Given the description of an element on the screen output the (x, y) to click on. 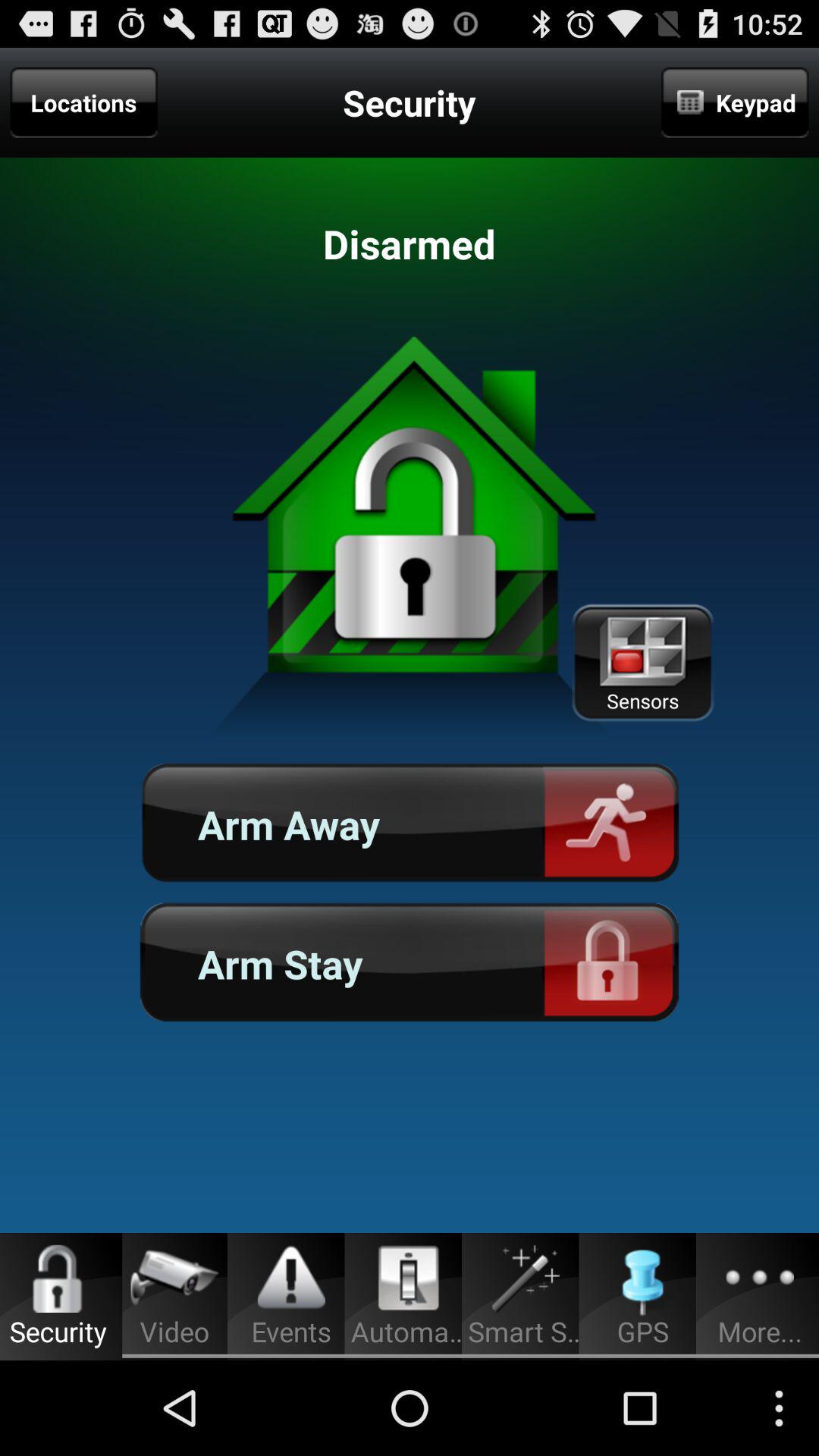
launch the icon at the top left corner (83, 102)
